Given the description of an element on the screen output the (x, y) to click on. 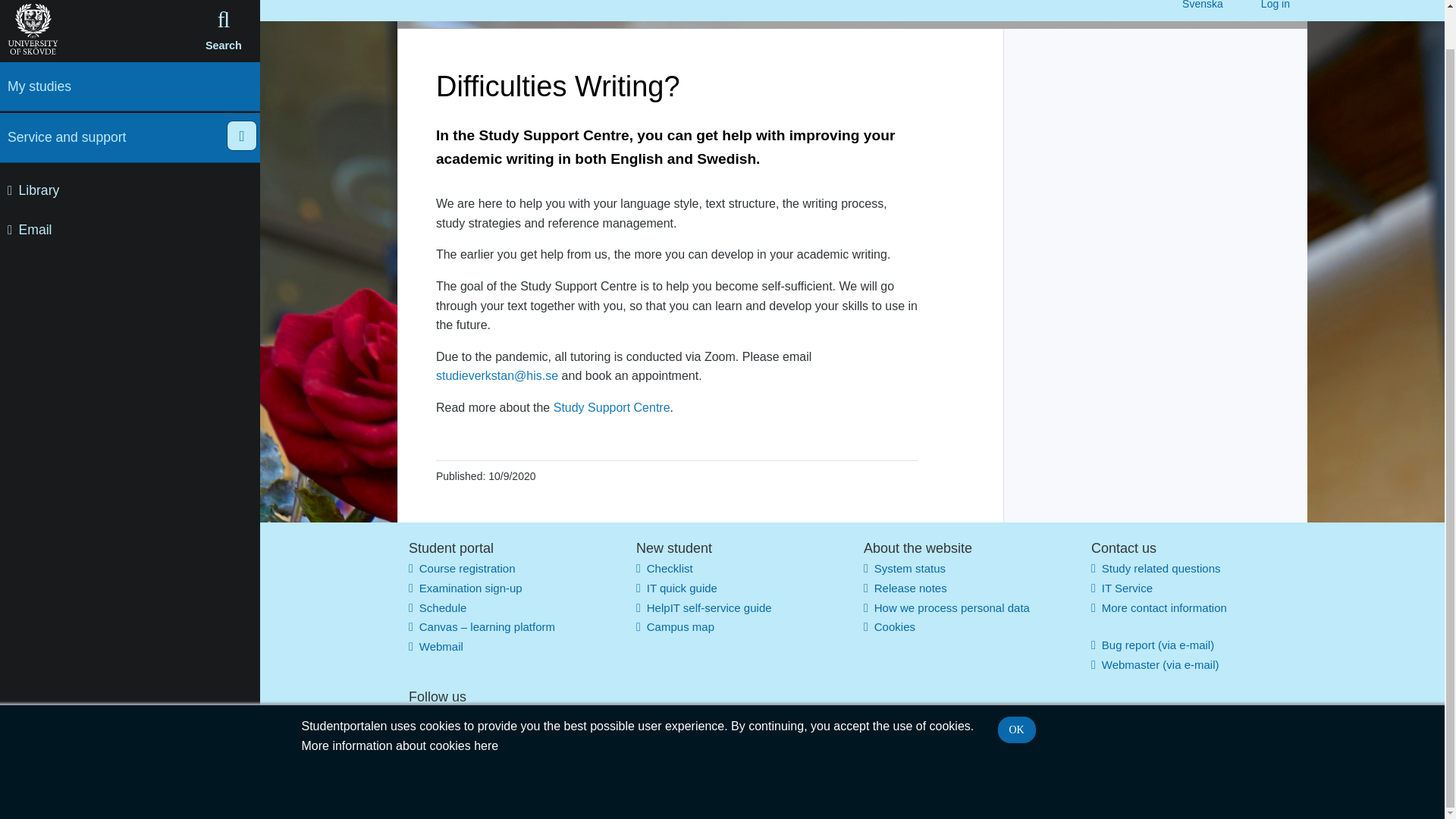
OK (1016, 688)
More information about cookies here (400, 704)
More information about cookies here (400, 704)
Service and support (113, 96)
My studies (113, 45)
